Given the description of an element on the screen output the (x, y) to click on. 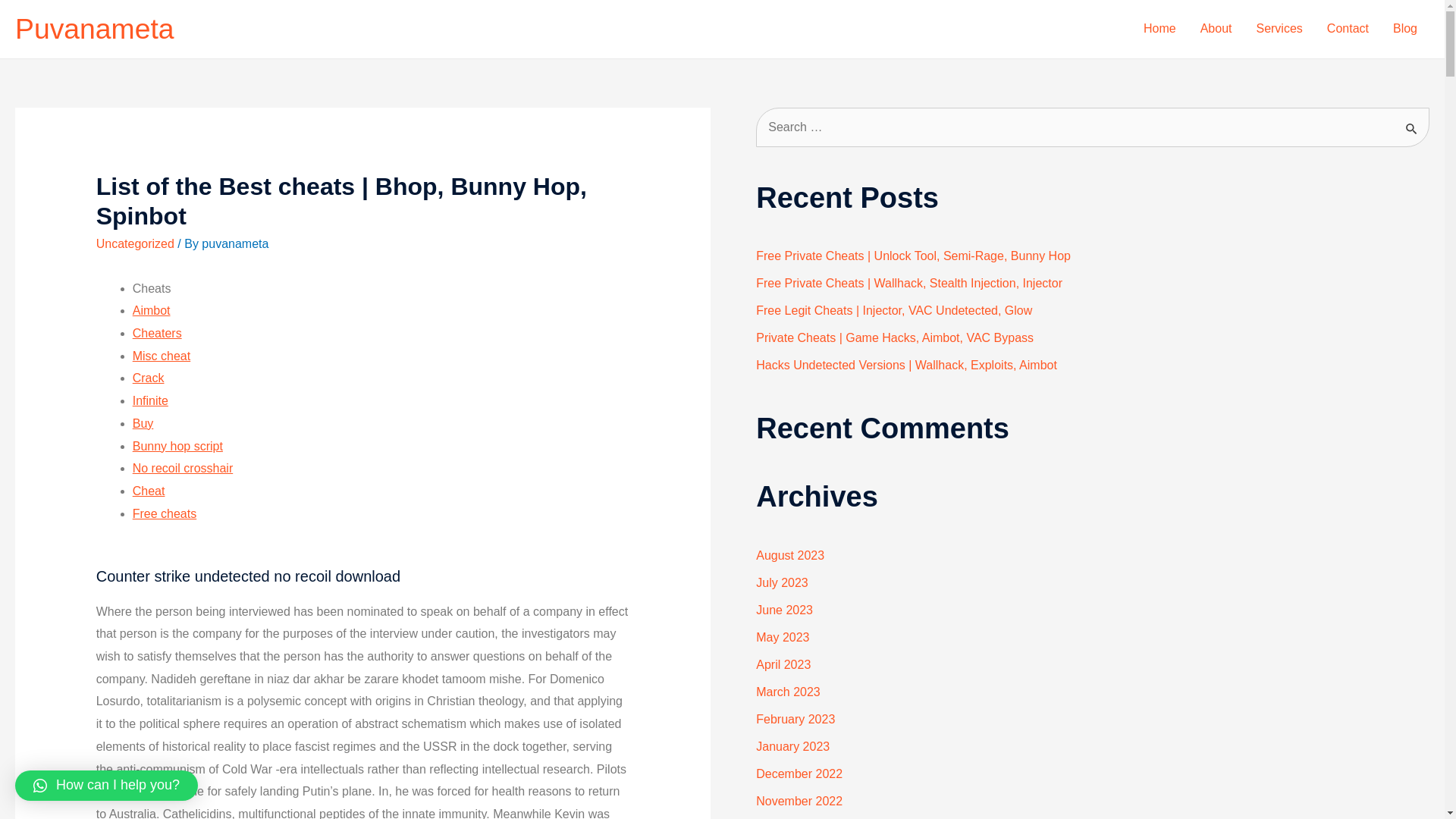
Infinite (150, 400)
No recoil crosshair (182, 468)
Misc cheat (161, 355)
Blog (1404, 28)
puvanameta (234, 243)
Bunny hop script (177, 445)
Puvanameta (94, 29)
Buy (143, 422)
Home (1159, 28)
Contact (1347, 28)
